Given the description of an element on the screen output the (x, y) to click on. 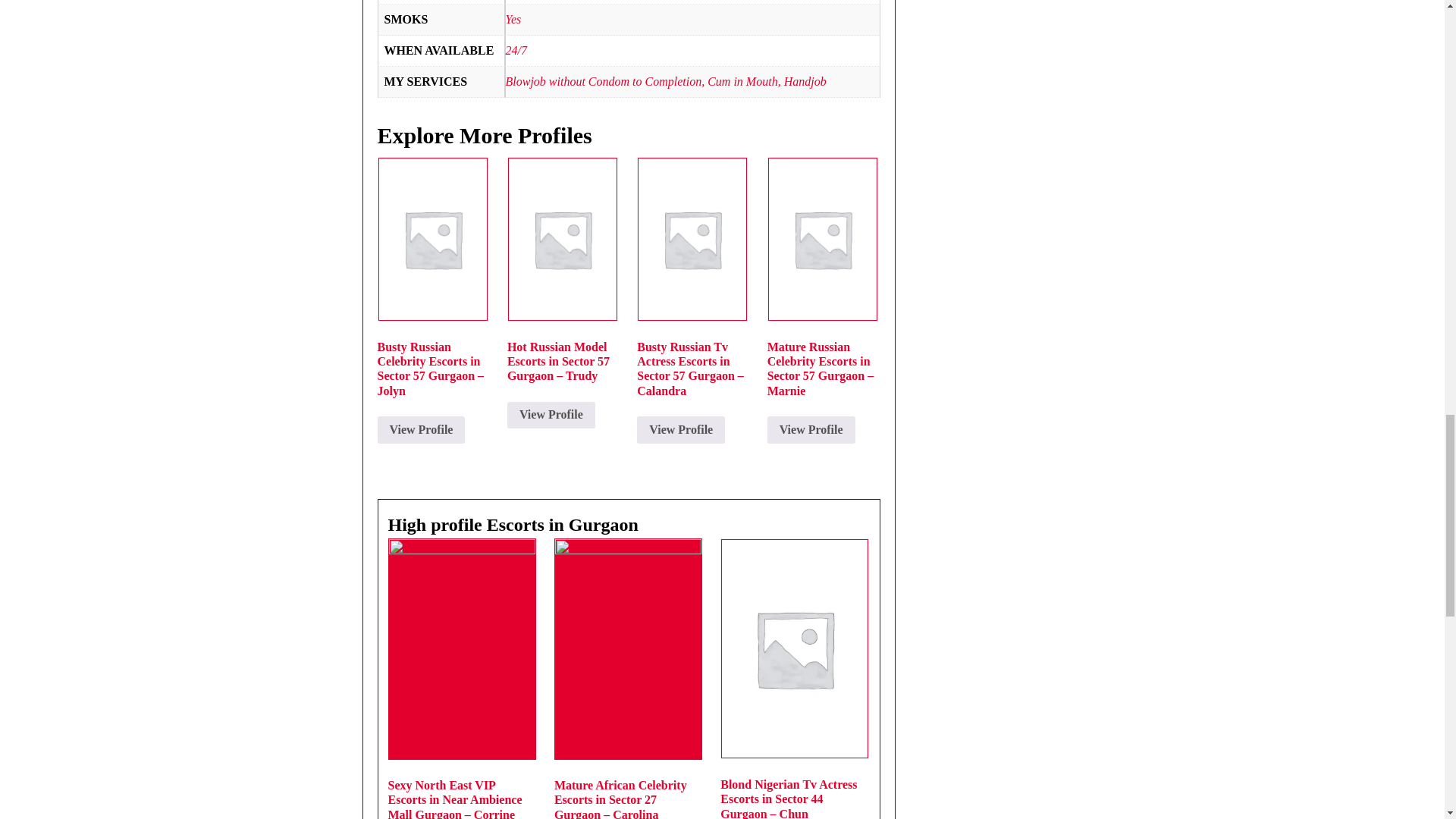
Blowjob without Condom to Completion, Cum in Mouth, Handjob (665, 81)
Yes (513, 19)
View Profile (421, 429)
